Given the description of an element on the screen output the (x, y) to click on. 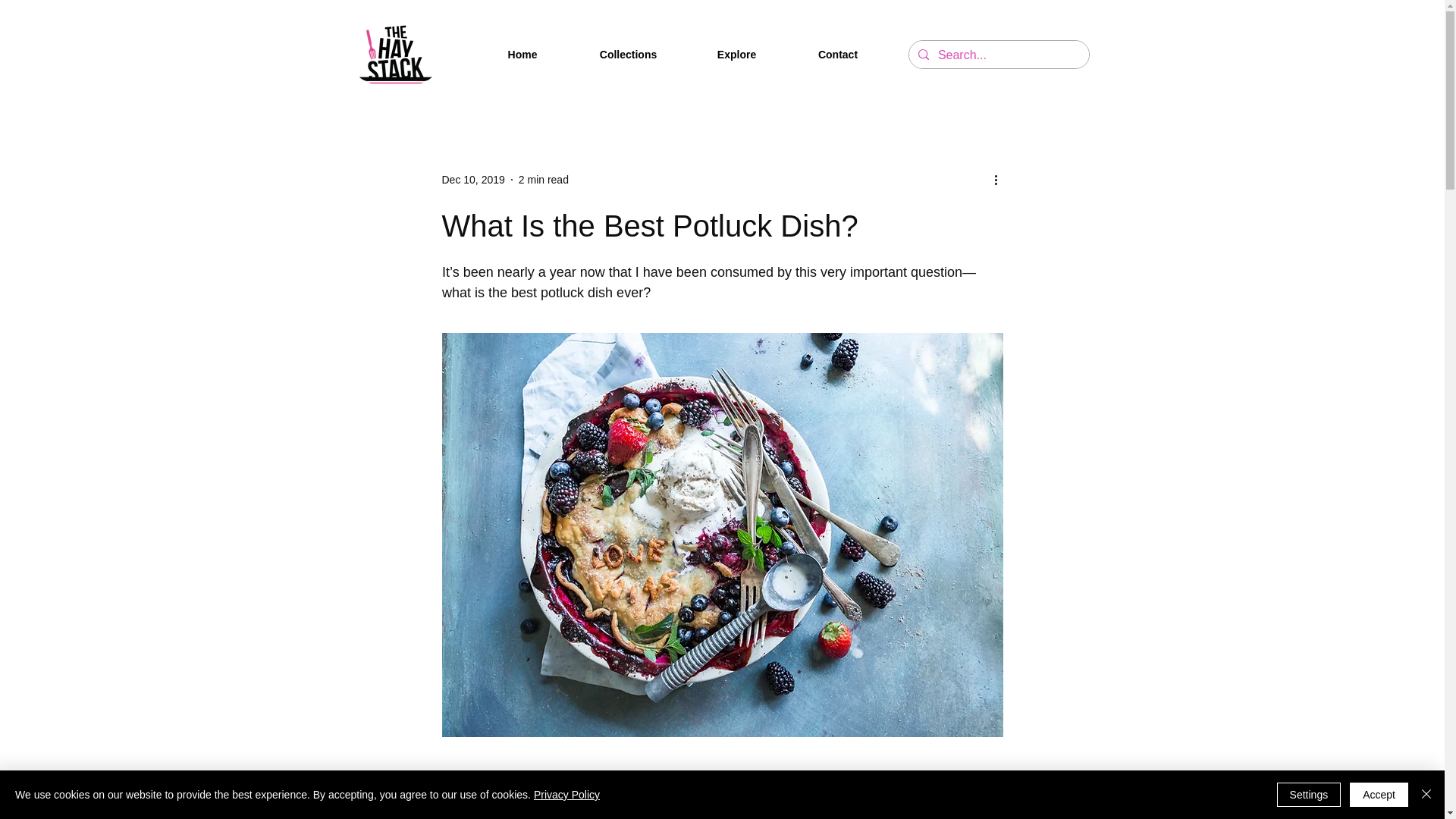
Privacy Policy (566, 794)
Home (521, 54)
Dec 10, 2019 (472, 178)
Accept (1378, 794)
Contact (838, 54)
2 min read (543, 178)
ministry of meals (595, 814)
Settings (1308, 794)
